Given the description of an element on the screen output the (x, y) to click on. 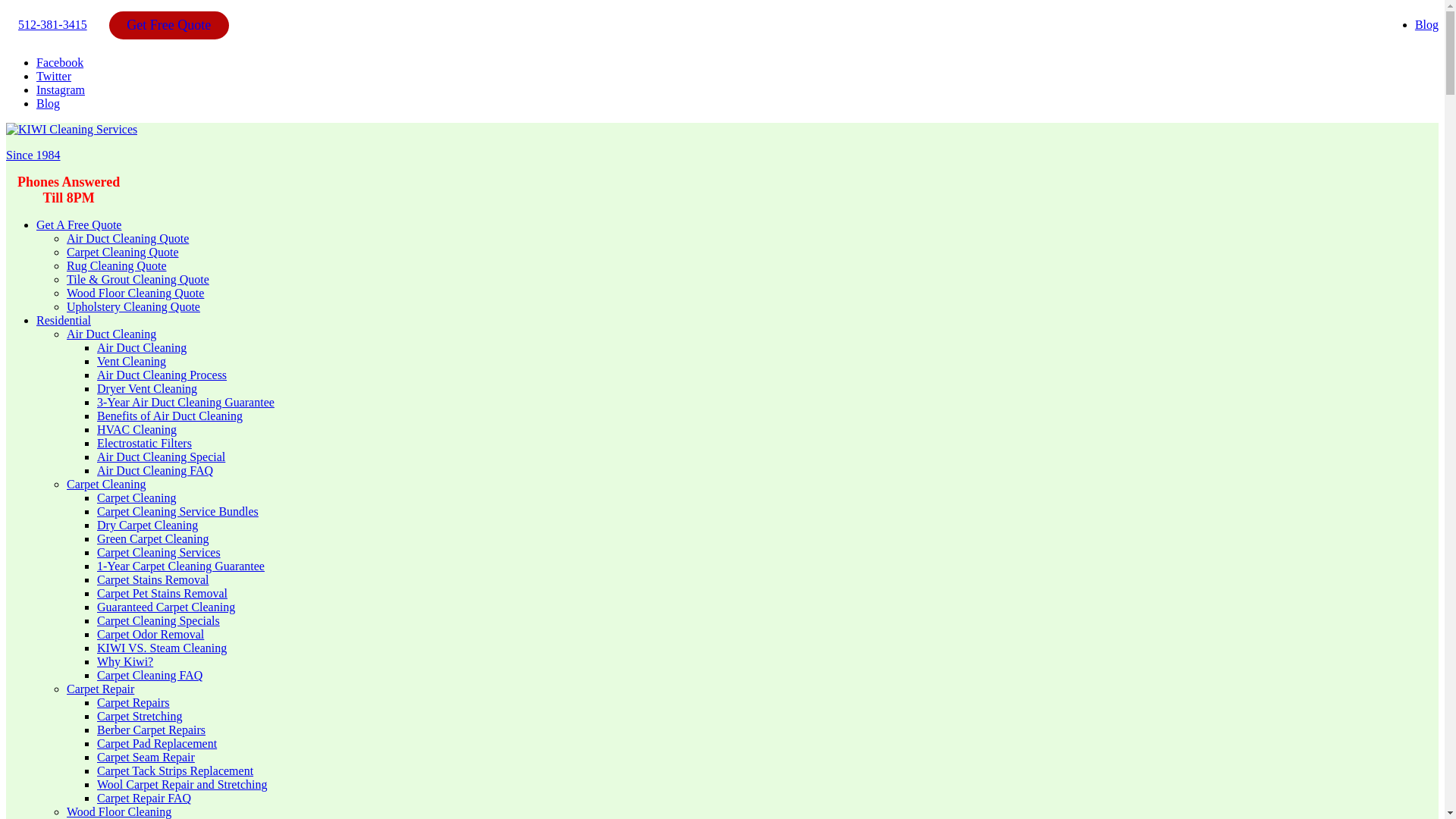
Benefits of Air Duct Cleaning (170, 415)
512-381-3415 (52, 24)
Blog (47, 103)
Air Duct Cleaning (141, 347)
Air Duct Cleaning (110, 333)
Green Carpet Cleaning (153, 538)
Carpet Cleaning Services (159, 552)
Dryer Vent Cleaning (146, 388)
Get Free Quote (168, 23)
Facebook (59, 62)
